Given the description of an element on the screen output the (x, y) to click on. 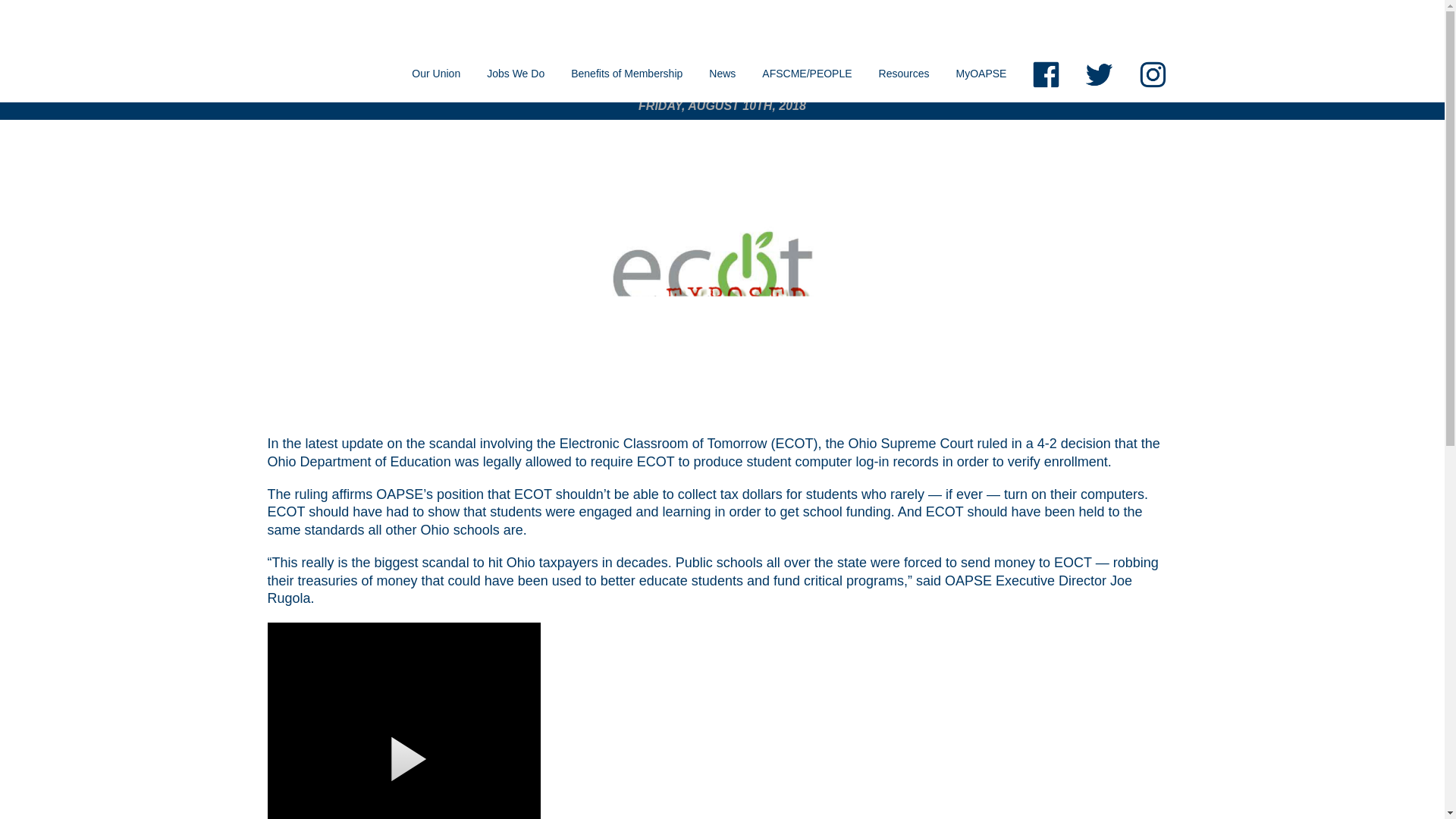
Resources (903, 73)
Benefits of Membership (626, 73)
Jobs We Do (516, 73)
Video Player (403, 720)
MyOAPSE (980, 73)
OAPSE (336, 22)
Our Union (435, 73)
